Given the description of an element on the screen output the (x, y) to click on. 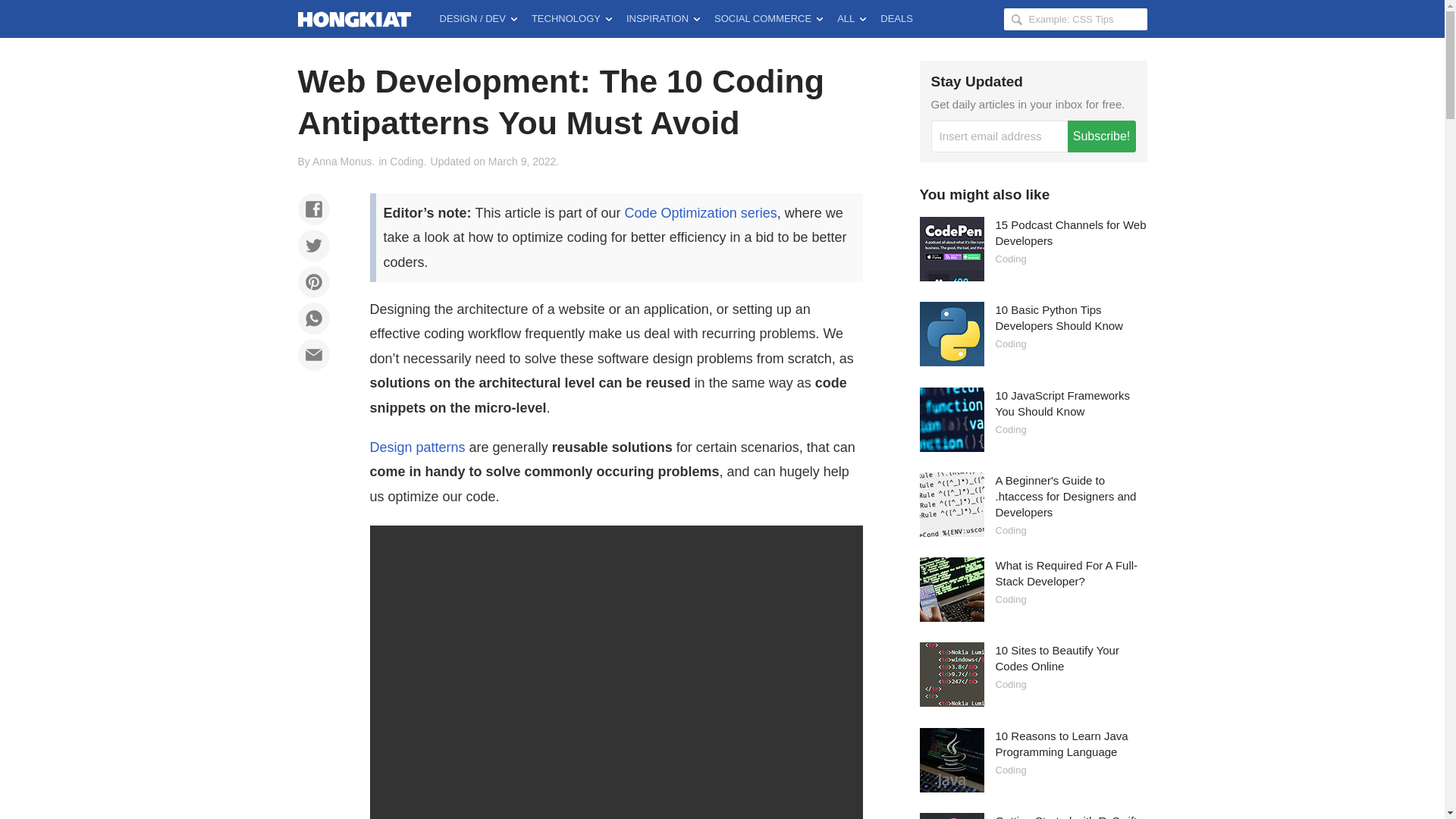
Search Hongkiat for (1075, 18)
Coding (1010, 343)
Anna Monus (342, 161)
DEALS (896, 18)
TECHNOLOGY (571, 18)
10 Basic Python Tips Developers Should Know (1058, 317)
Design patterns (417, 447)
15 Podcast Channels for Web Developers (1069, 232)
Code Optimization series (700, 212)
SOCIAL COMMERCE (767, 18)
